Given the description of an element on the screen output the (x, y) to click on. 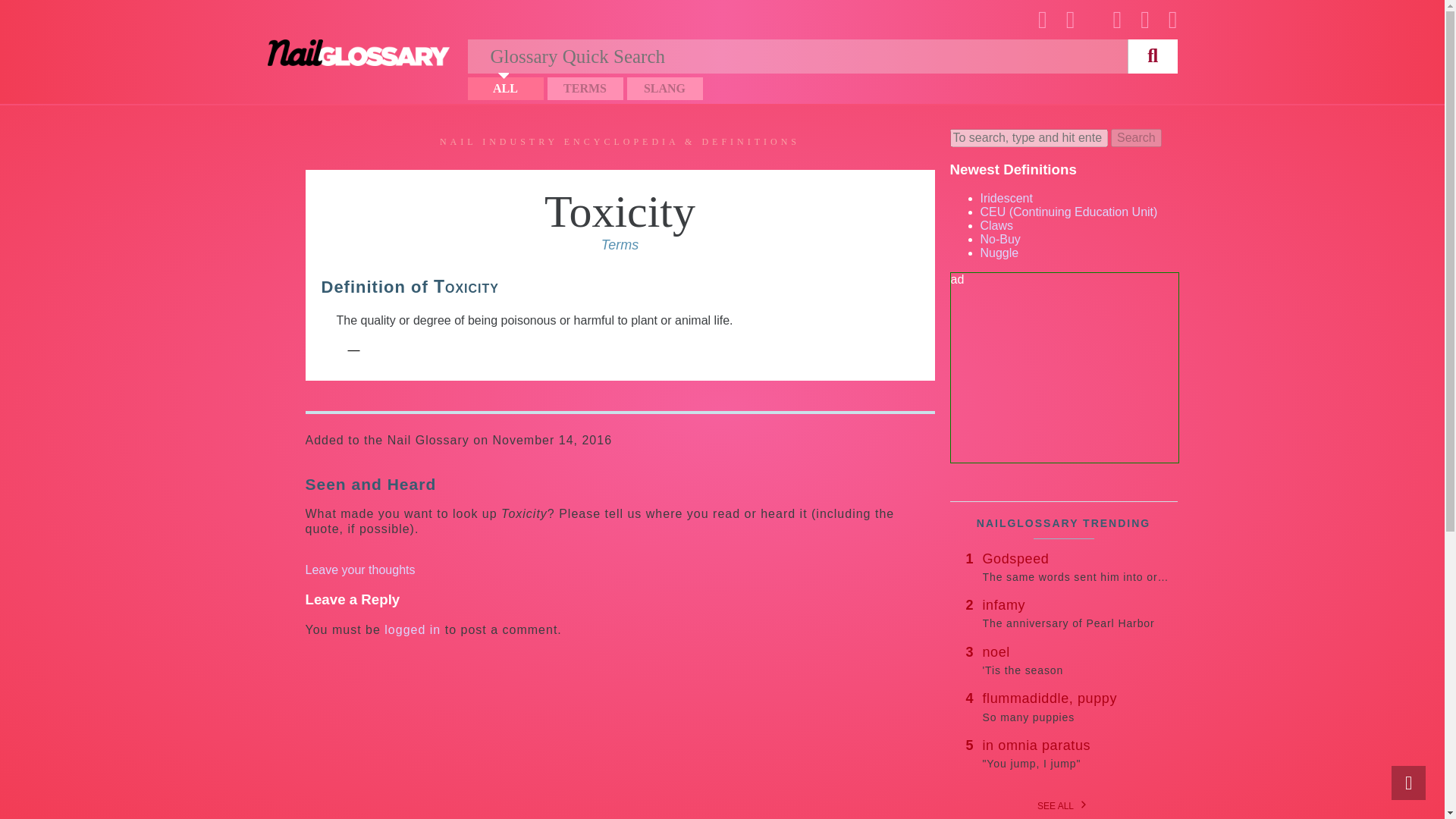
Toxicity (619, 211)
Claws (996, 225)
SLANG (663, 87)
Toxicity (619, 211)
ALL (1077, 567)
Nail Glossary by NailMOB (505, 87)
No-Buy (357, 52)
Nuggle (999, 238)
NAILGLOSSARY TRENDING (998, 252)
